Given the description of an element on the screen output the (x, y) to click on. 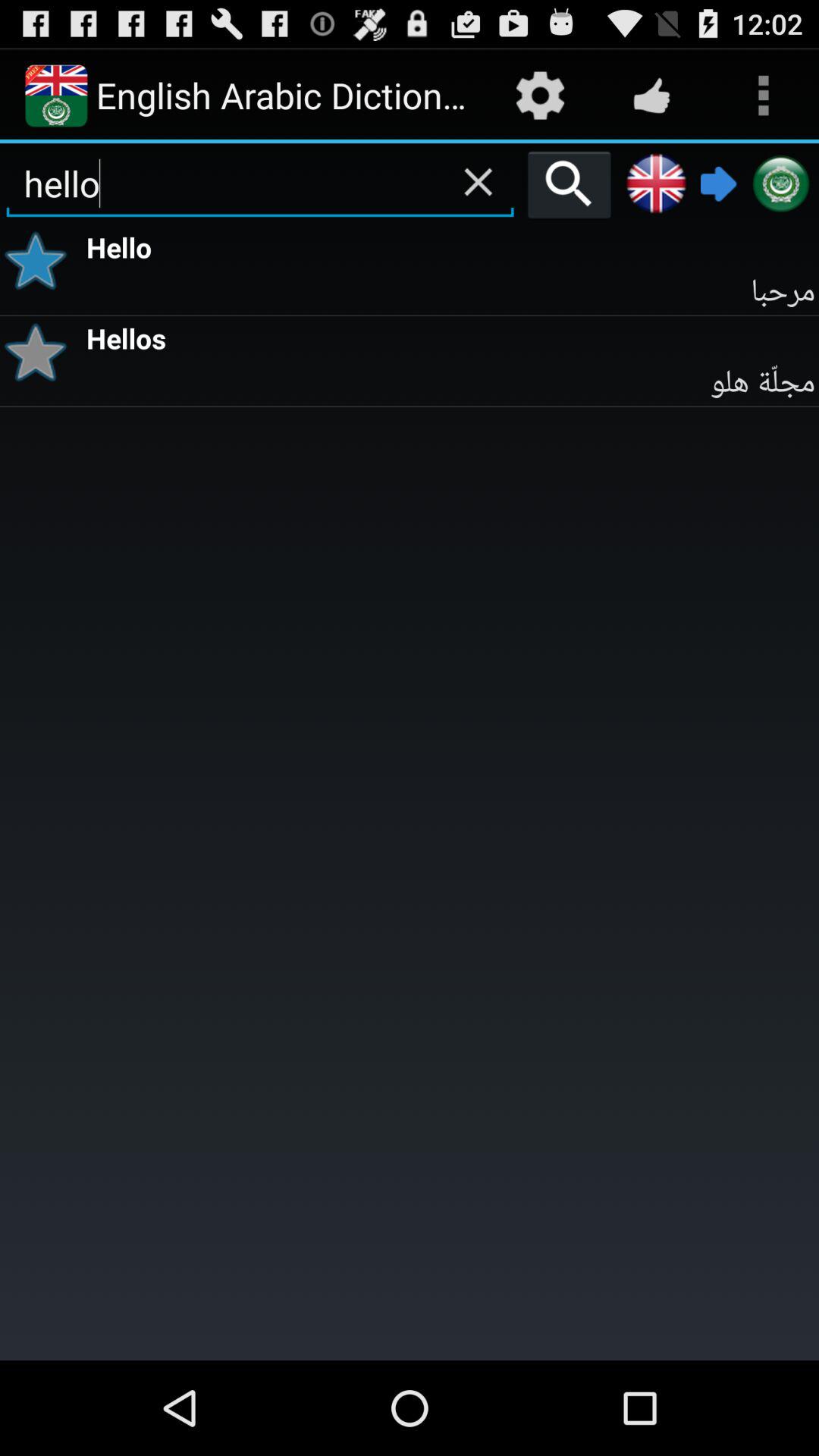
preference button (41, 260)
